Given the description of an element on the screen output the (x, y) to click on. 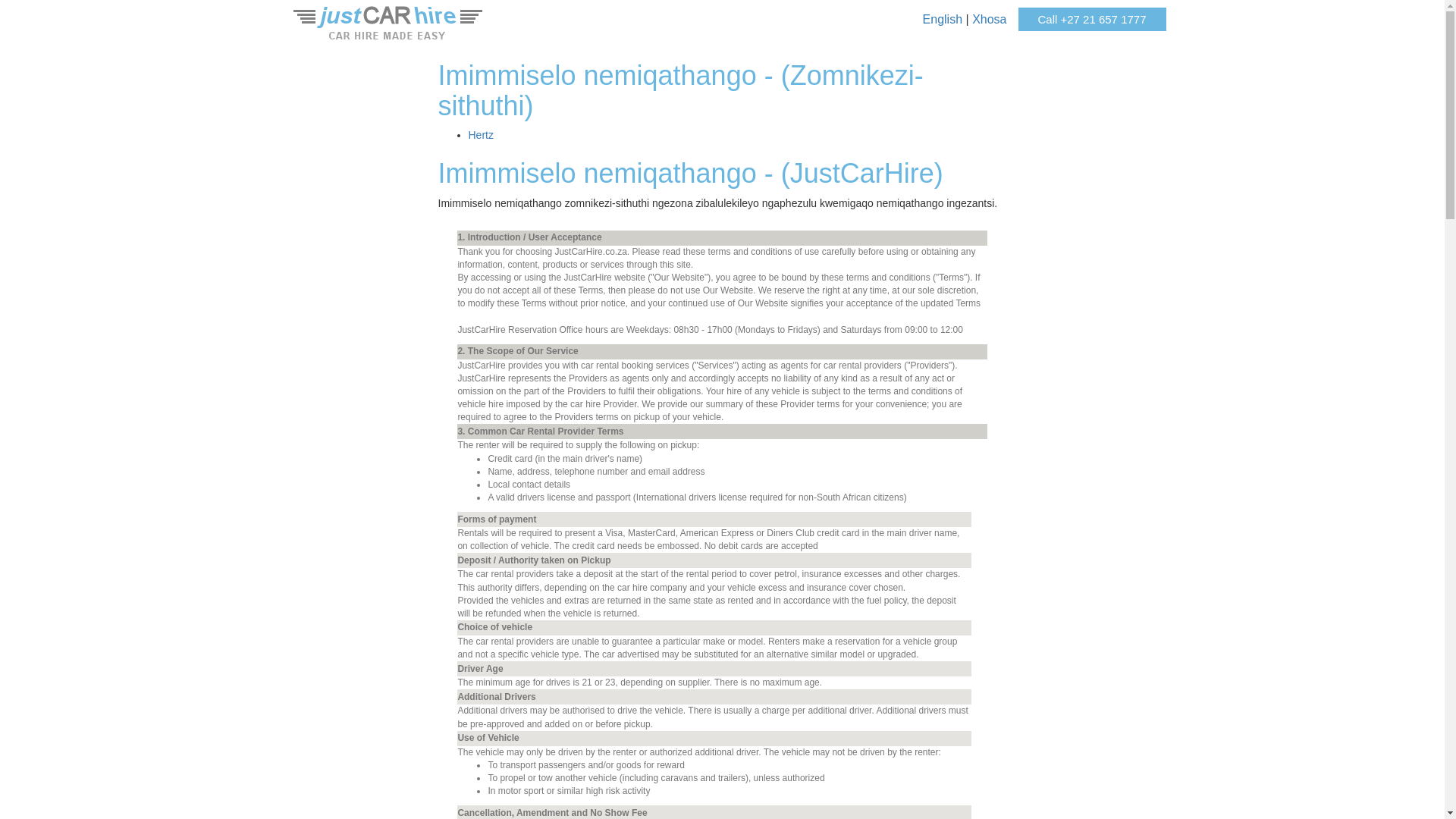
Hertz (480, 134)
Xhosa (989, 19)
English (942, 19)
